Given the description of an element on the screen output the (x, y) to click on. 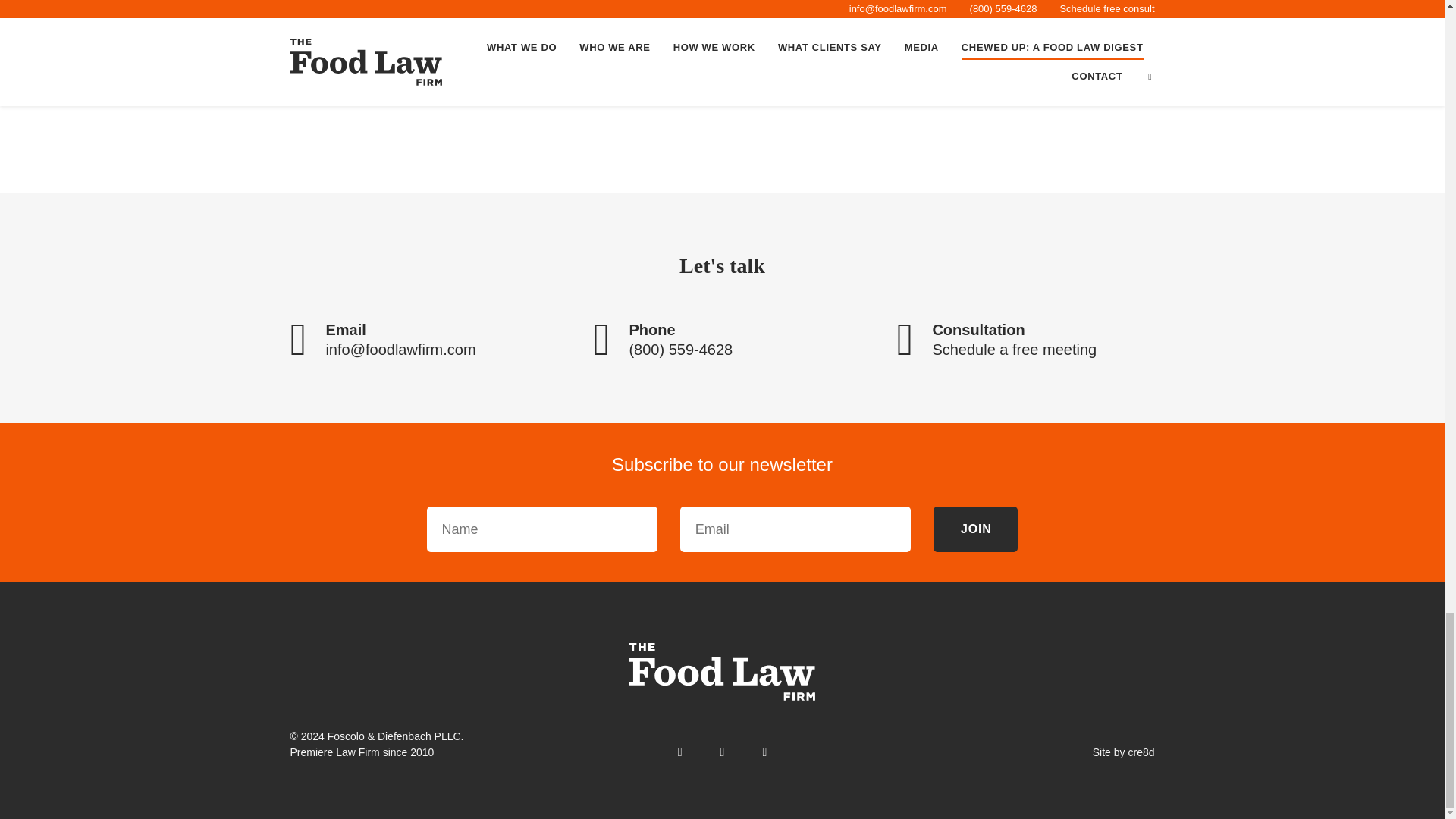
Join (975, 529)
